Given the description of an element on the screen output the (x, y) to click on. 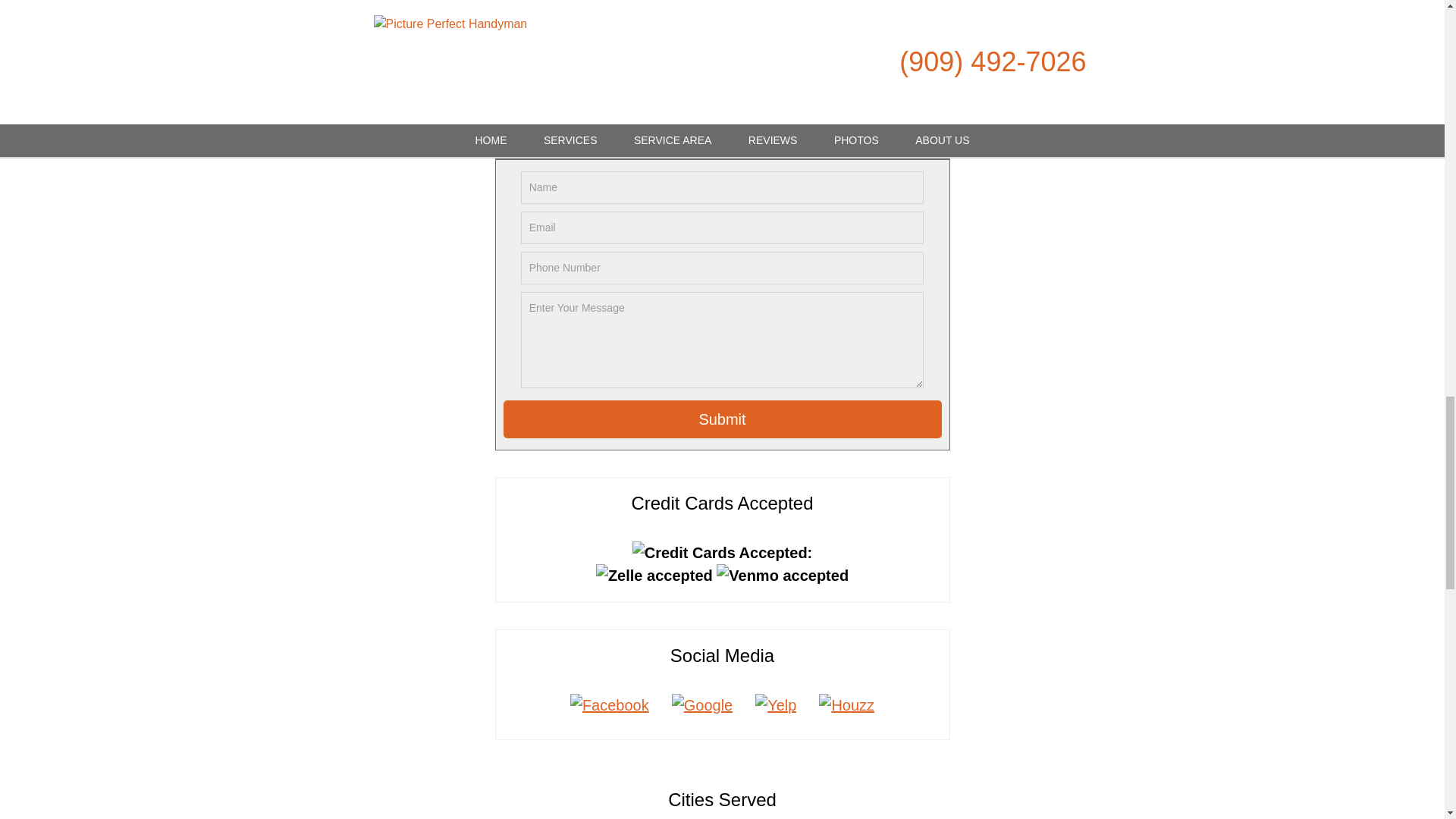
Google (702, 704)
Yelp (776, 704)
Houzz (846, 704)
Facebook (610, 704)
Submit (722, 419)
